Given the description of an element on the screen output the (x, y) to click on. 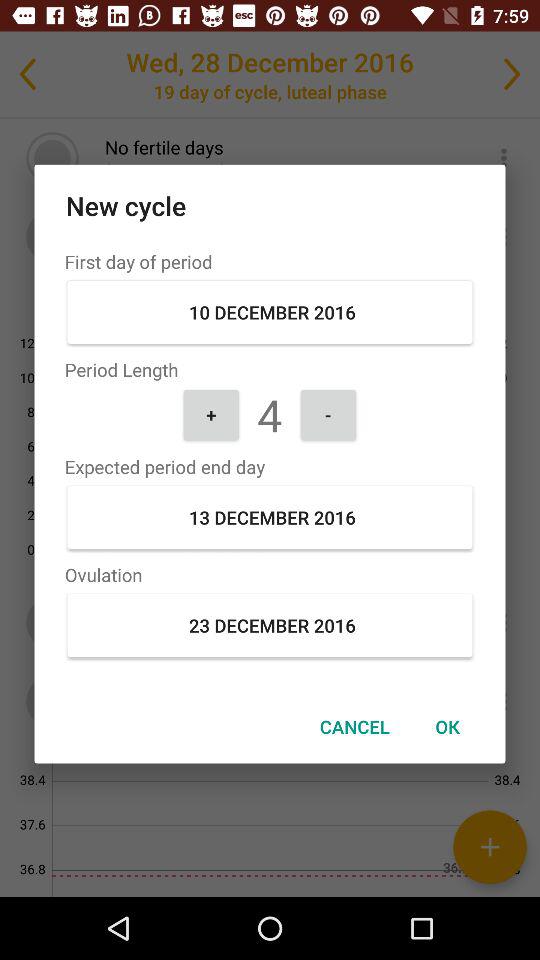
click the item to the right of the 4 icon (328, 414)
